Given the description of an element on the screen output the (x, y) to click on. 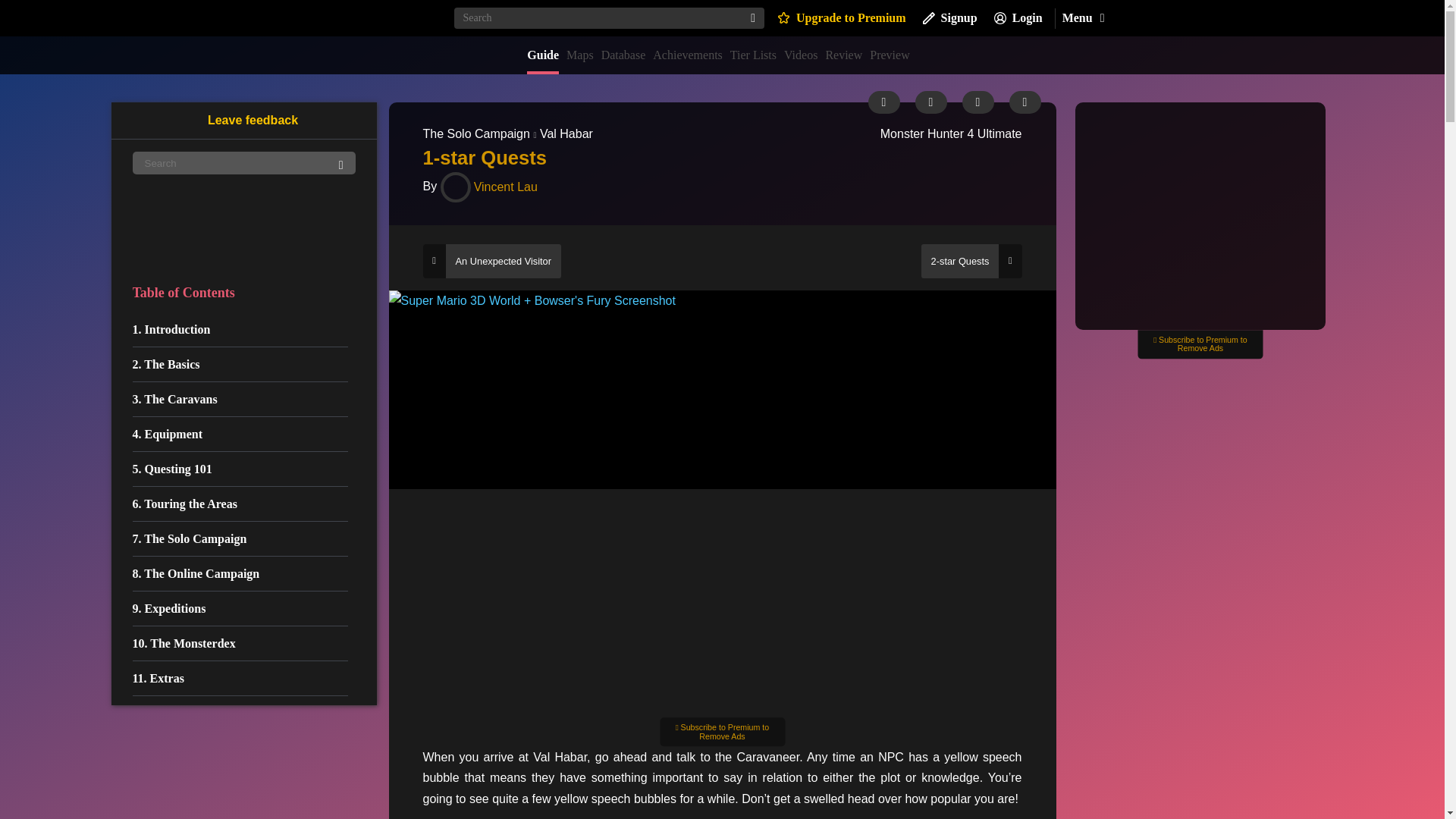
Guide information (883, 101)
Favorite (1025, 101)
Signup (949, 18)
Leave feedback (243, 120)
Login (1018, 18)
Home (388, 17)
Main Menu (1082, 18)
Share (976, 101)
Download guide (930, 101)
